Given the description of an element on the screen output the (x, y) to click on. 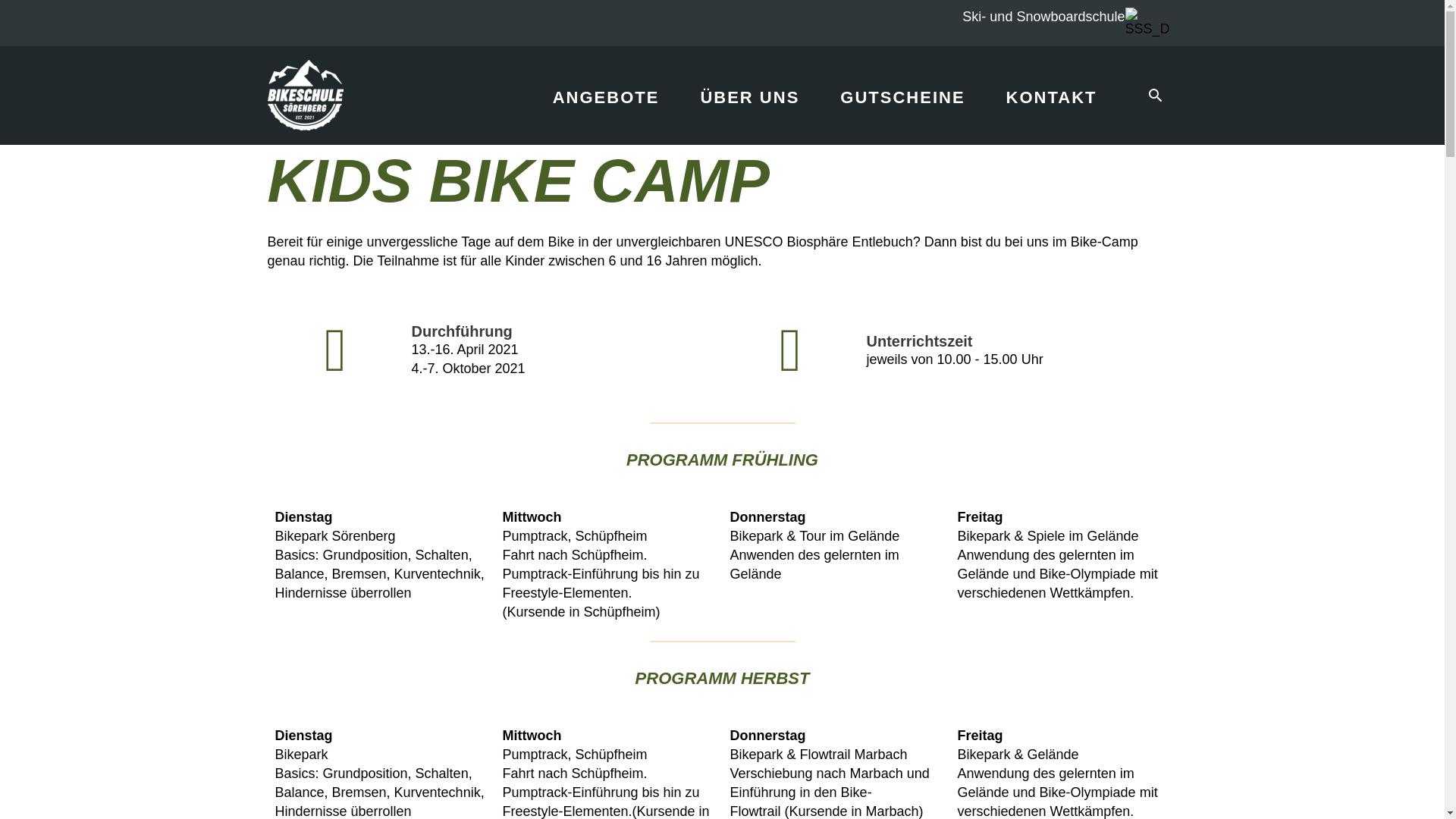
KONTAKT Element type: text (1051, 90)
Ski- und Snowboardschule Element type: text (1043, 16)
ANGEBOTE Element type: text (606, 90)
GUTSCHEINE Element type: text (901, 90)
